Given the description of an element on the screen output the (x, y) to click on. 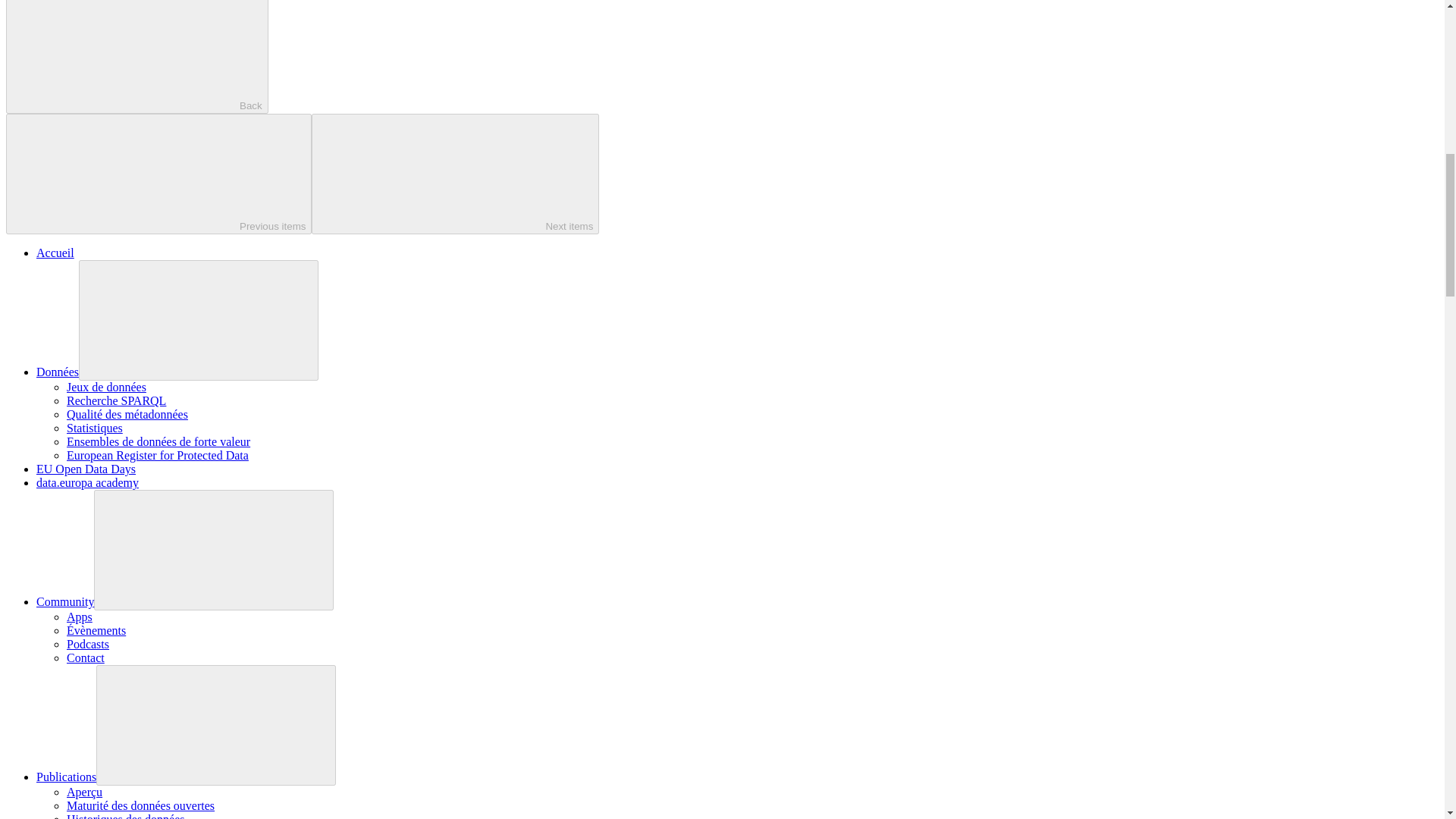
Community (65, 601)
Publications (66, 776)
data.europa academy (87, 481)
Statistiques (94, 427)
Next items (454, 173)
Back (136, 56)
Apps (79, 616)
Accueil (55, 252)
EU Open Data Days (85, 468)
Contact (85, 657)
Previous items (158, 173)
European Register for Protected Data (157, 454)
Recherche SPARQL (115, 400)
Podcasts (87, 644)
